Given the description of an element on the screen output the (x, y) to click on. 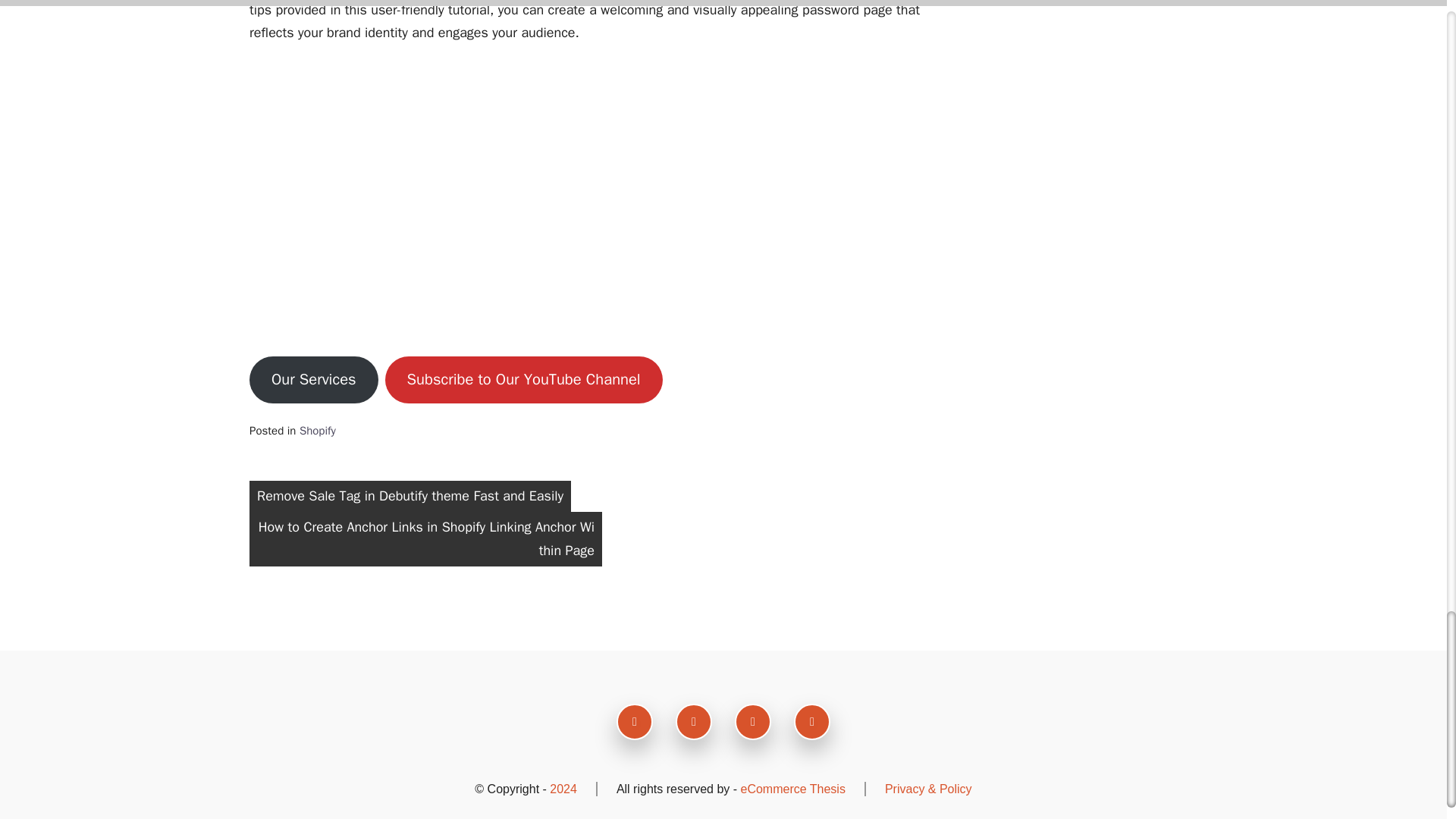
Remove Sale Tag in Debutify theme Fast and Easily (409, 495)
eCommerce Thesis (791, 788)
Our Services (313, 379)
Shopify (317, 430)
Subscribe to Our YouTube Channel (523, 379)
